Given the description of an element on the screen output the (x, y) to click on. 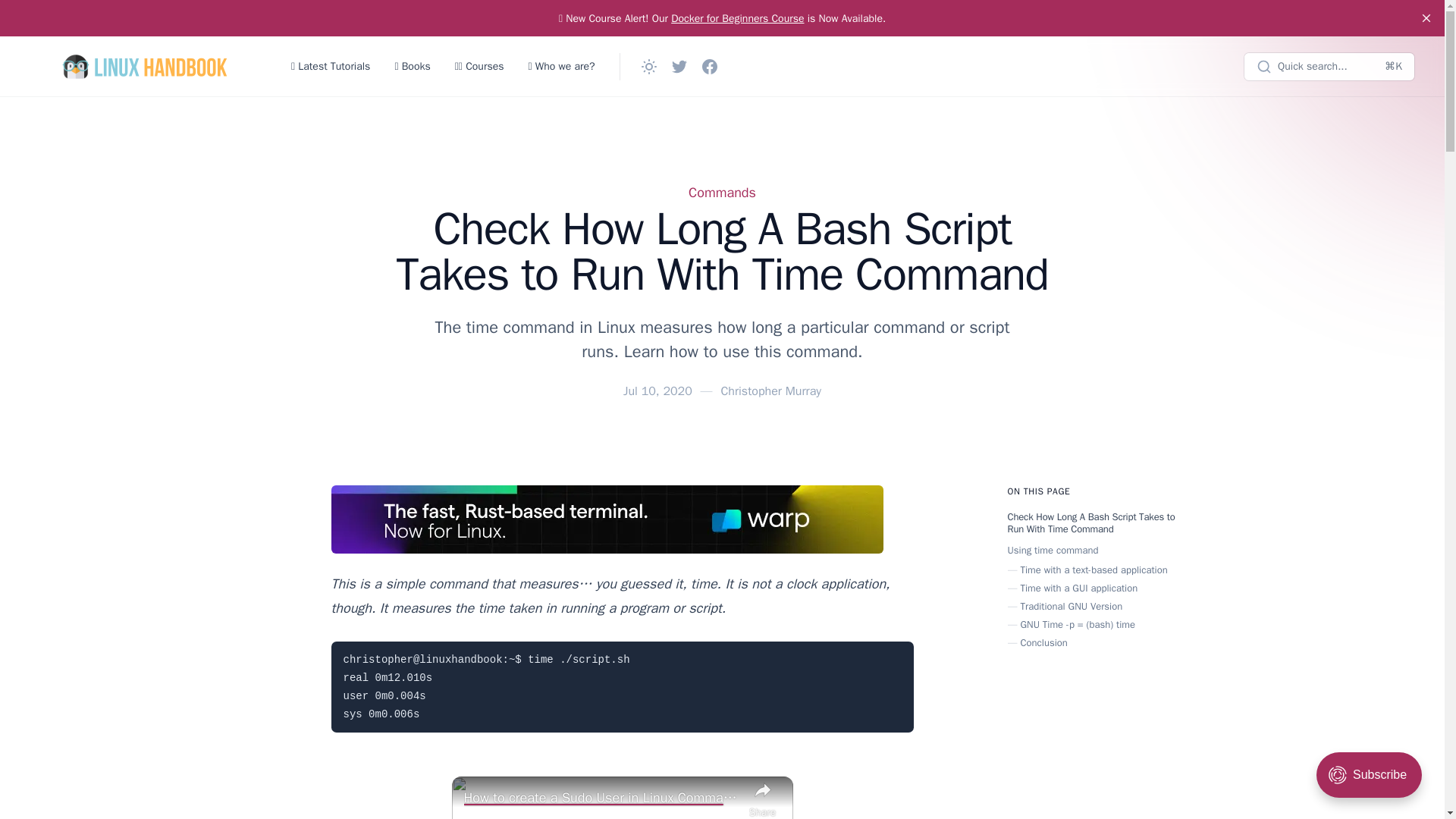
Facebook (709, 66)
Twitter (679, 66)
Christopher Murray (770, 391)
Commands (721, 192)
Change theme (648, 66)
Docker for Beginners Course (737, 18)
Christopher Murray (770, 391)
